Given the description of an element on the screen output the (x, y) to click on. 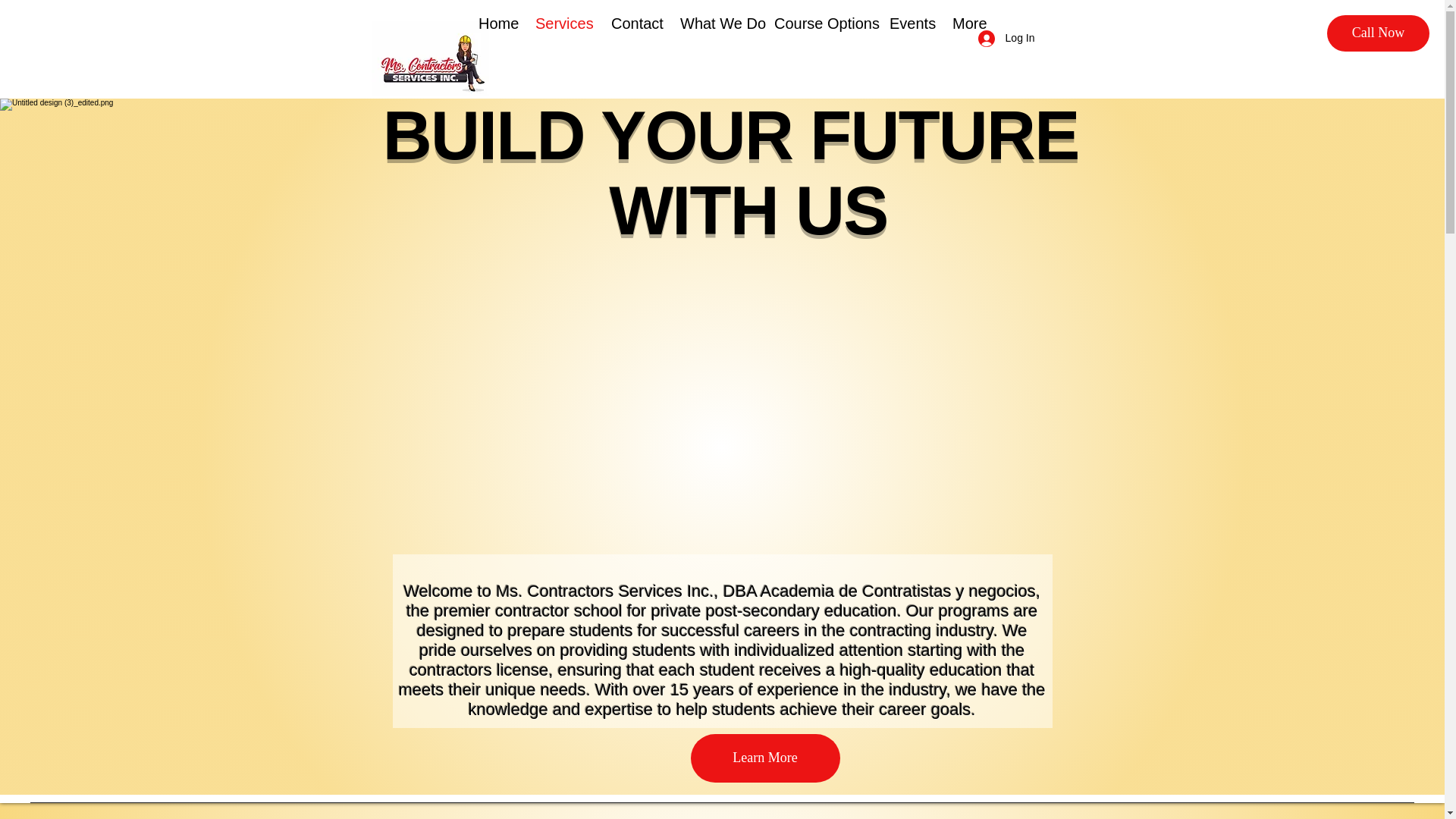
Course Options (819, 23)
Log In (1006, 38)
What We Do (715, 23)
Learn More (765, 757)
Home (495, 23)
Services (561, 23)
Contact (633, 23)
Call Now (1377, 33)
Events (908, 23)
